Given the description of an element on the screen output the (x, y) to click on. 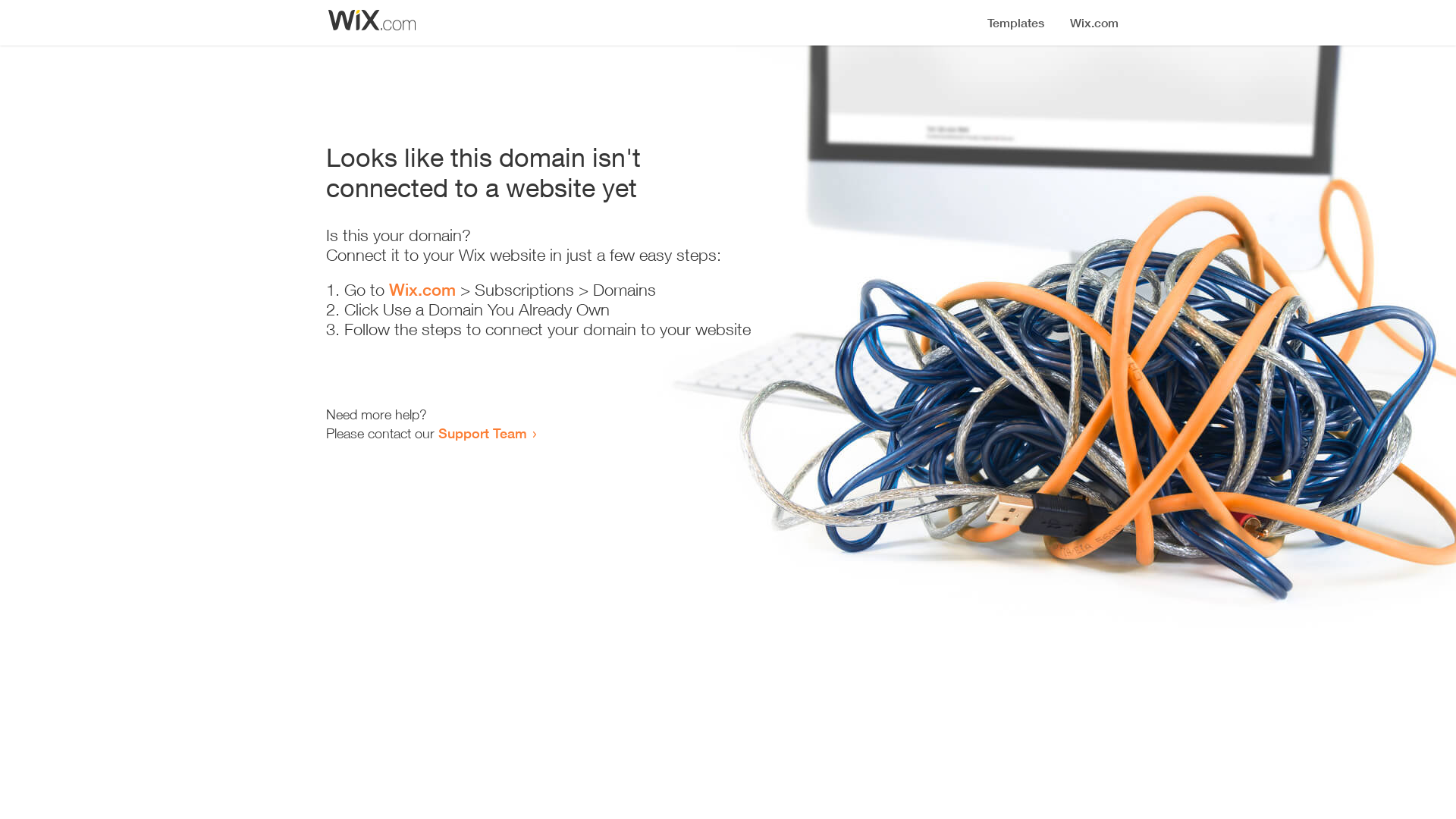
Wix.com Element type: text (422, 289)
Support Team Element type: text (482, 432)
